Given the description of an element on the screen output the (x, y) to click on. 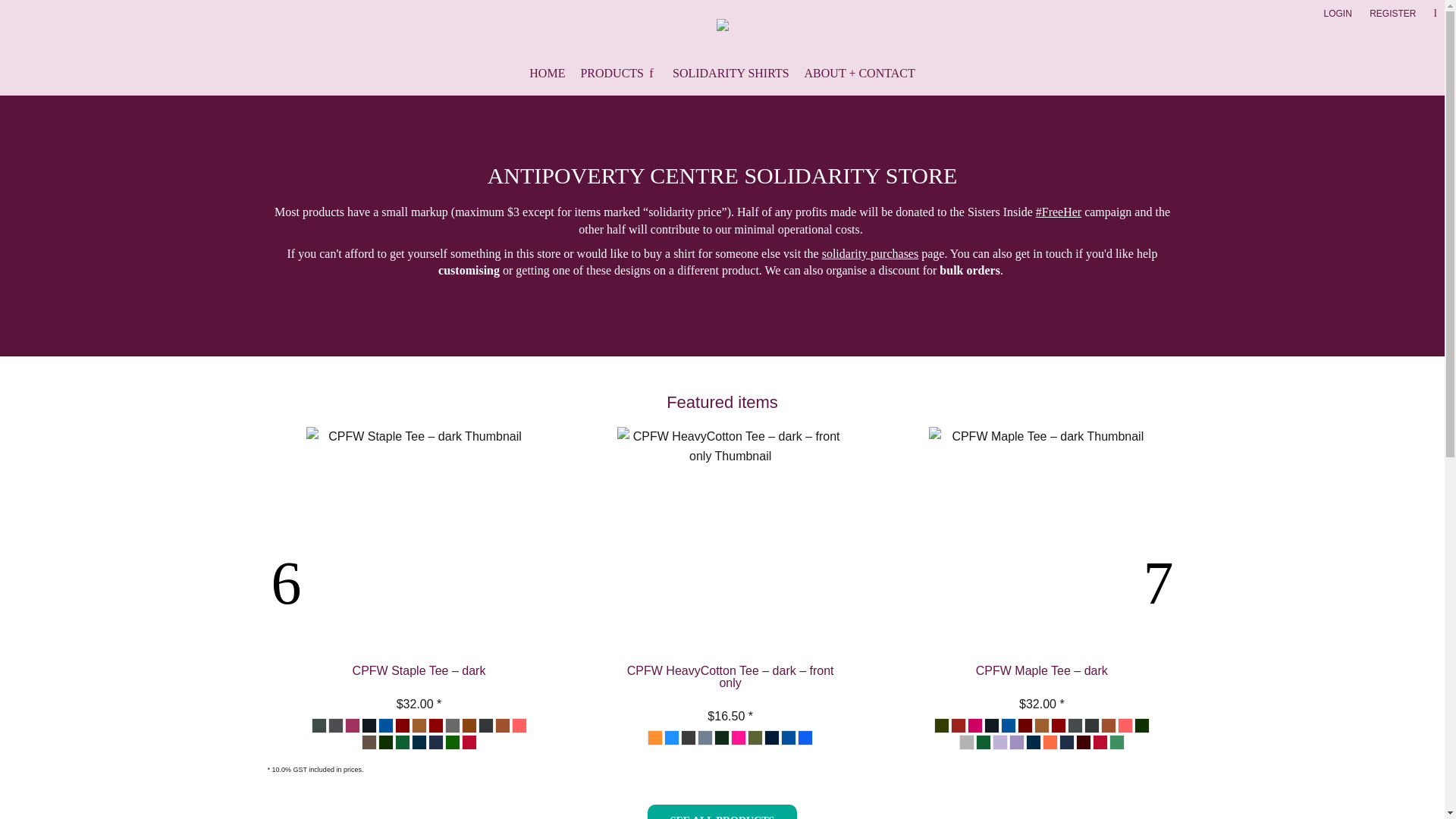
PRODUCTS (618, 72)
SOLIDARITY SHIRTS (730, 72)
REGISTER (1392, 12)
solidarity purchases (870, 253)
LOGIN (1337, 12)
HOME (546, 72)
